Given the description of an element on the screen output the (x, y) to click on. 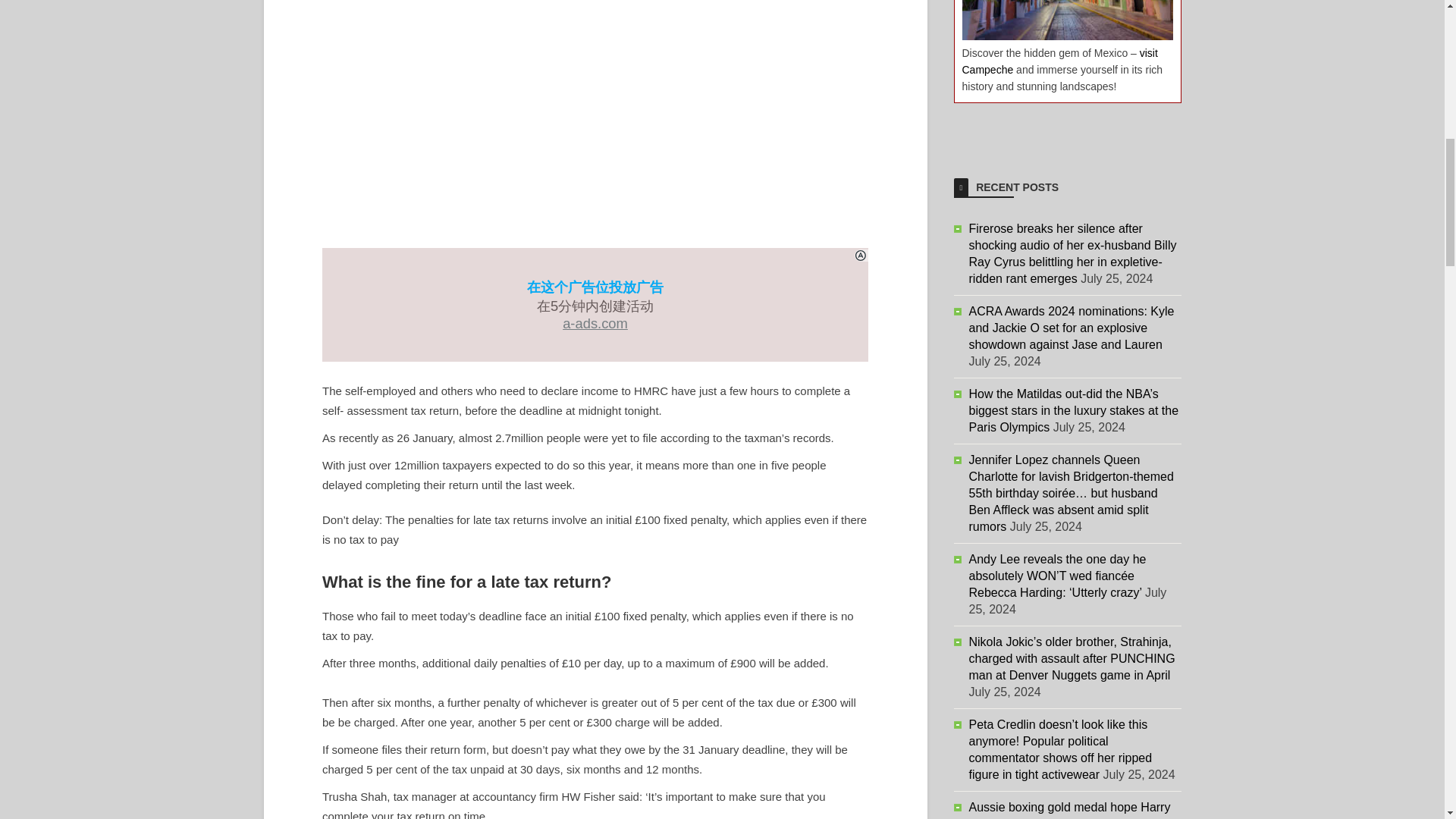
visit Campeche (1058, 61)
